Given the description of an element on the screen output the (x, y) to click on. 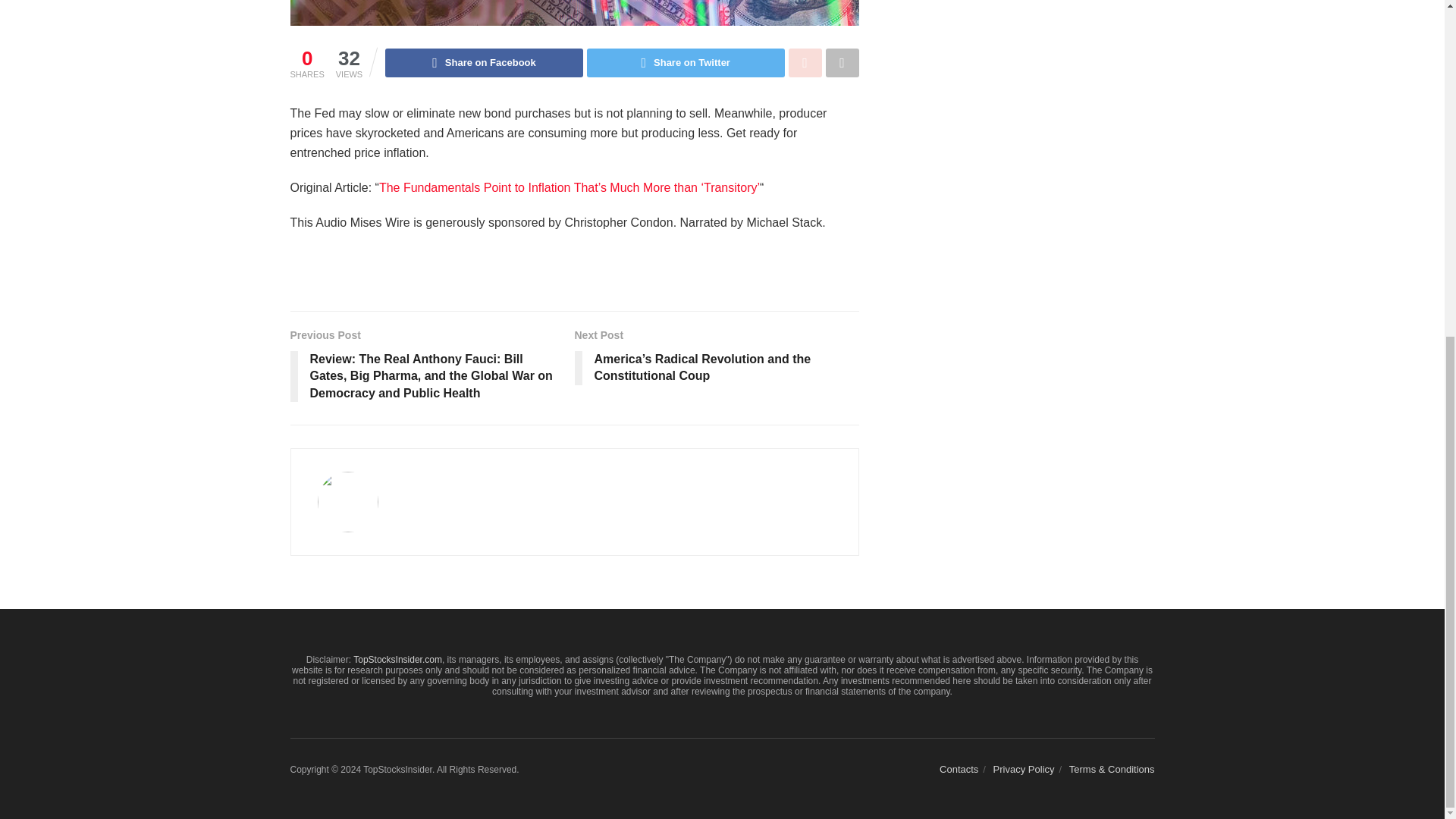
Share on Facebook (484, 62)
Share on Twitter (685, 62)
